Given the description of an element on the screen output the (x, y) to click on. 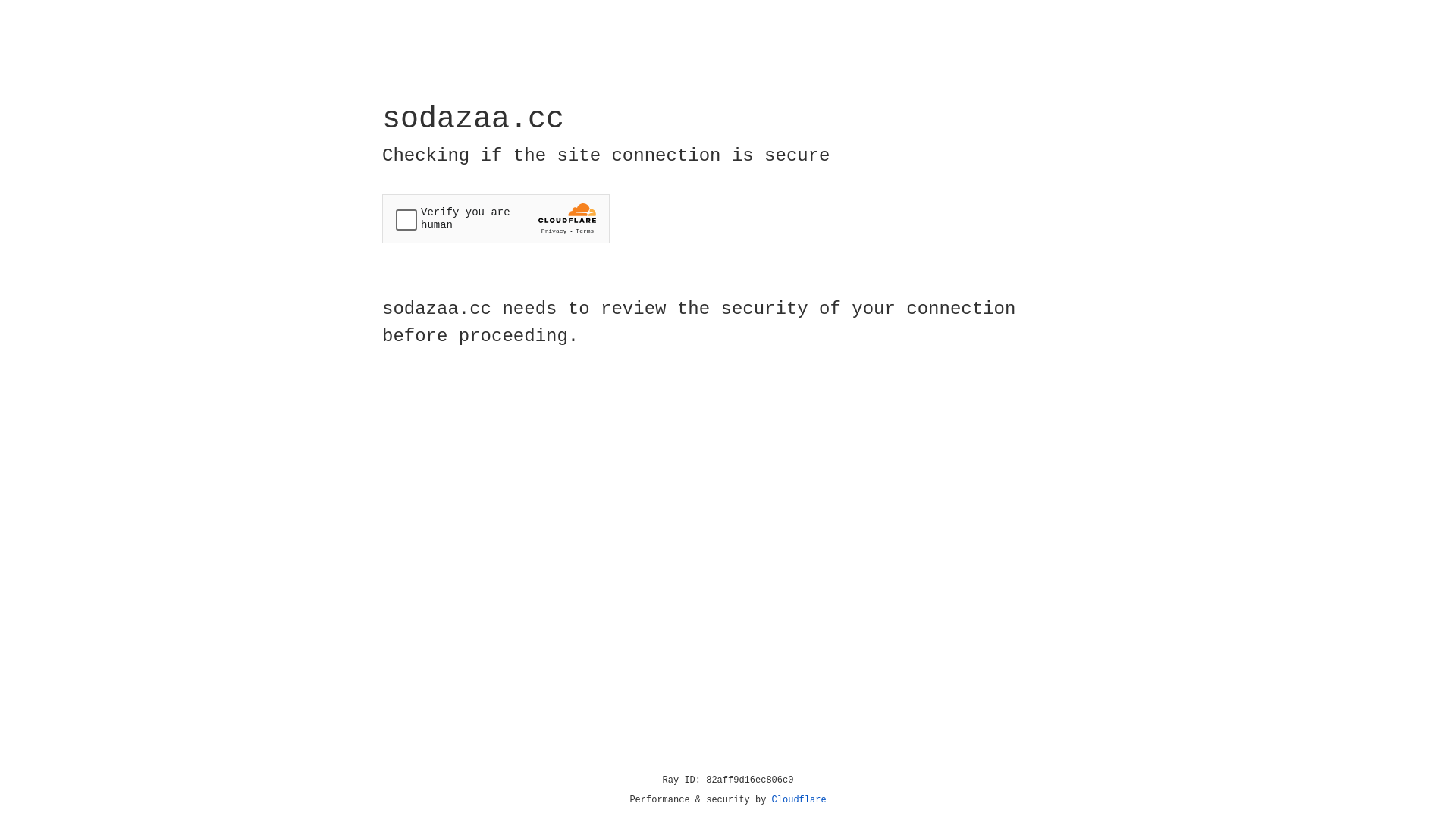
Widget containing a Cloudflare security challenge Element type: hover (495, 218)
Cloudflare Element type: text (798, 799)
